Given the description of an element on the screen output the (x, y) to click on. 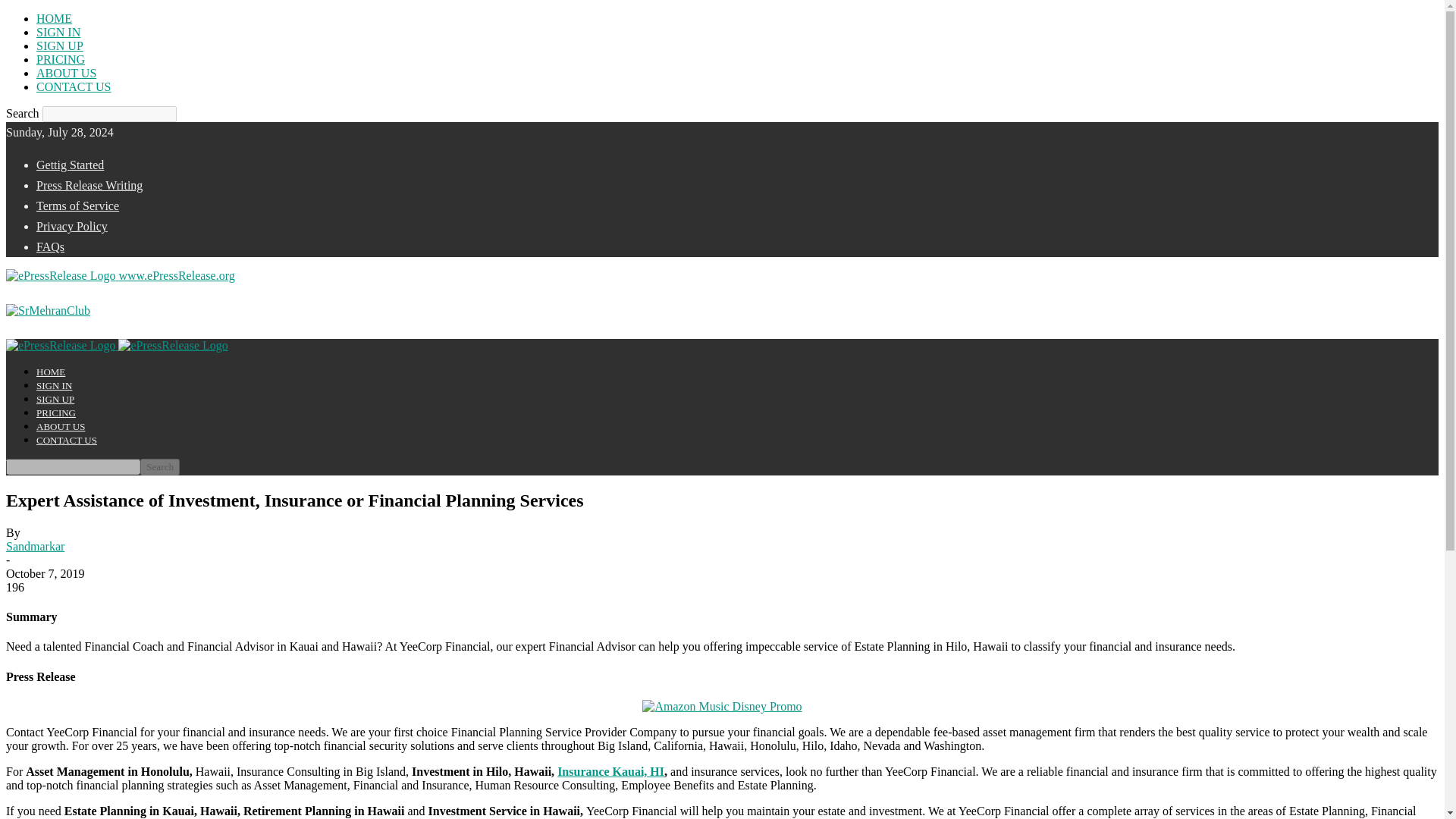
ABOUT US (66, 72)
SIGN UP (59, 45)
ePressRelease Logo (60, 345)
ePressRelease Logo (172, 345)
SIGN UP (55, 398)
Terms of Service (77, 205)
CONTACT US (73, 86)
HOME (53, 18)
PRICING (60, 59)
HOME (50, 371)
Insurance Kauai, HI (610, 771)
FAQs (50, 246)
PRICING (55, 412)
ABOUT US (60, 426)
Gettig Started (69, 164)
